Given the description of an element on the screen output the (x, y) to click on. 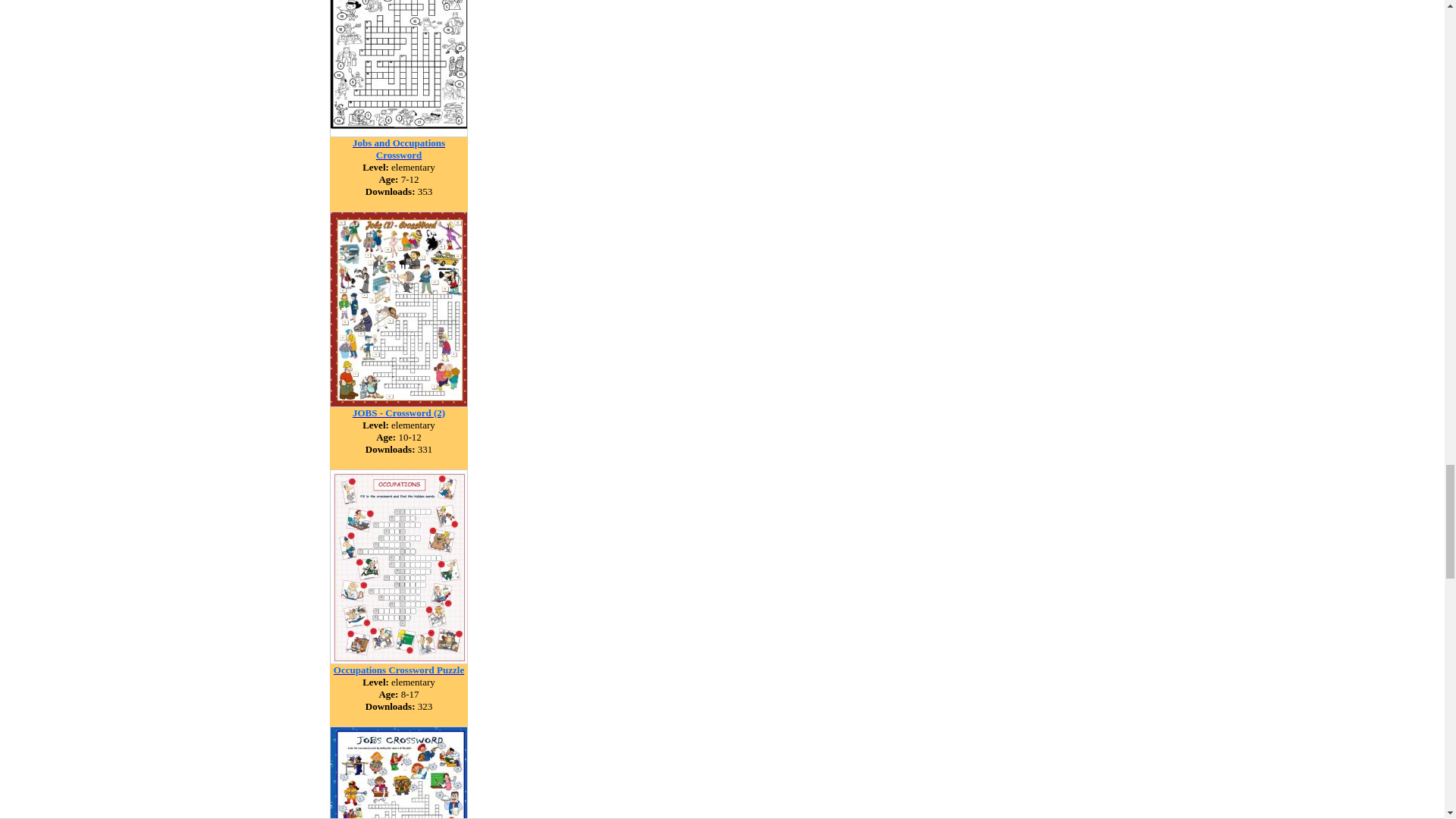
Jobs and Occupations Crossword (398, 147)
Occupations Crossword Puzzle (398, 668)
